Given the description of an element on the screen output the (x, y) to click on. 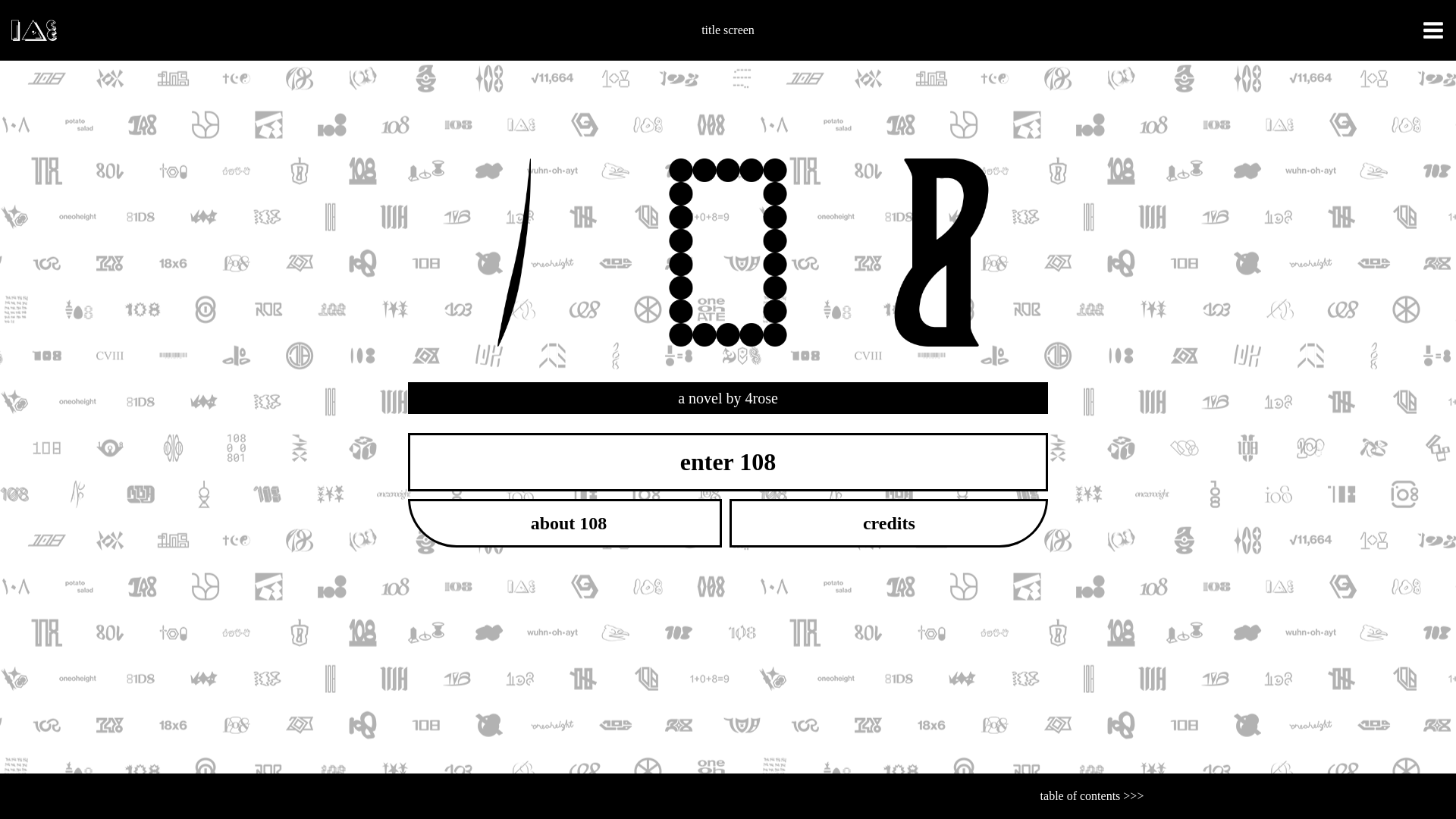
table of contents Element type: text (1080, 795)
about 108 Element type: text (564, 522)
enter 108 Element type: text (727, 462)
credits Element type: text (888, 522)
